Given the description of an element on the screen output the (x, y) to click on. 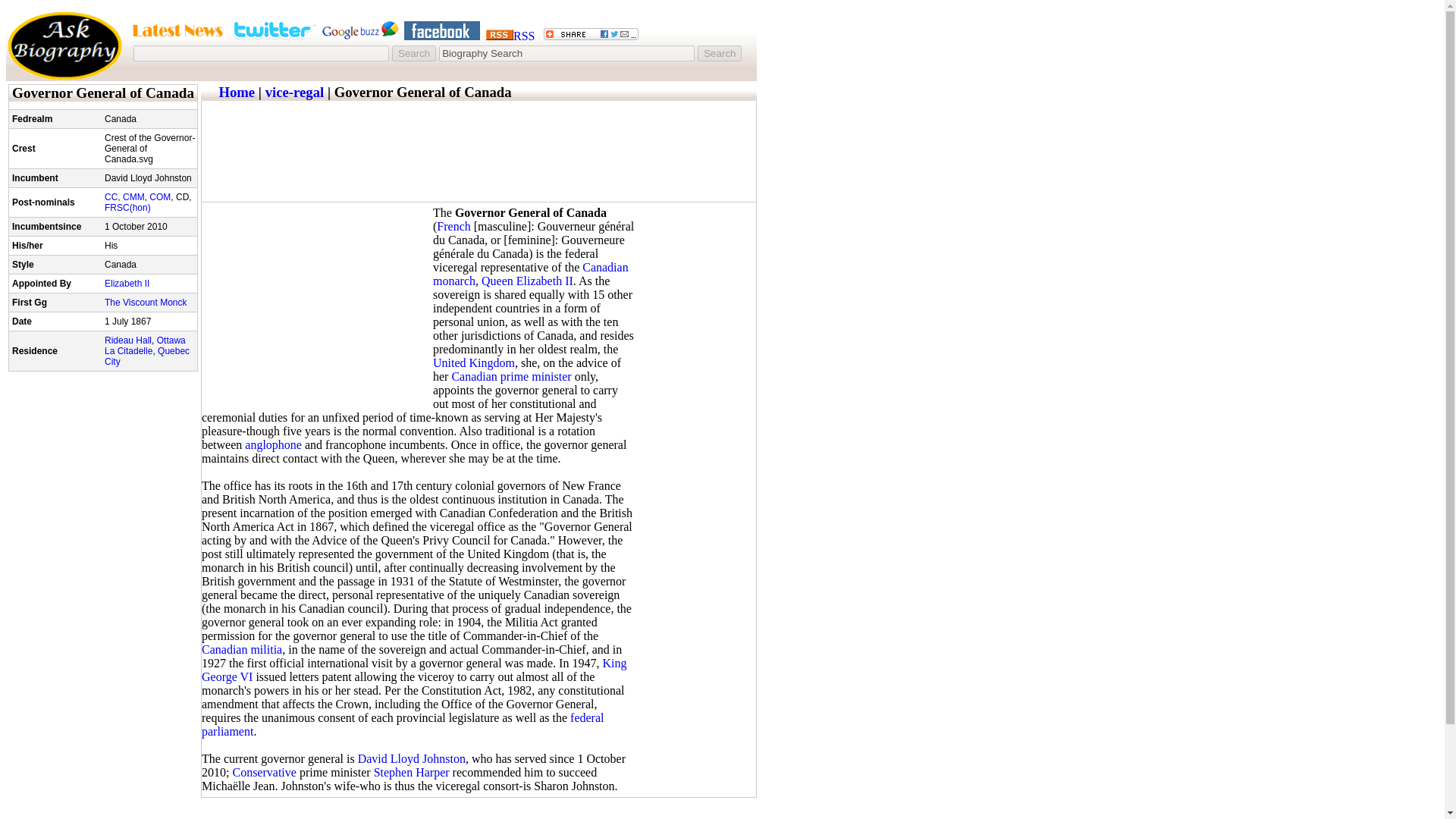
federal parliament (403, 724)
Search (413, 53)
Advertisement (478, 163)
Advertisement (478, 110)
The Viscount Monck (145, 302)
United Kingdom (473, 362)
RSS (510, 35)
French (453, 226)
CC (110, 196)
vice-regal (294, 91)
La Citadelle (128, 350)
Biography Search (566, 53)
Queen Elizabeth II (527, 280)
Advertisement (315, 304)
